Given the description of an element on the screen output the (x, y) to click on. 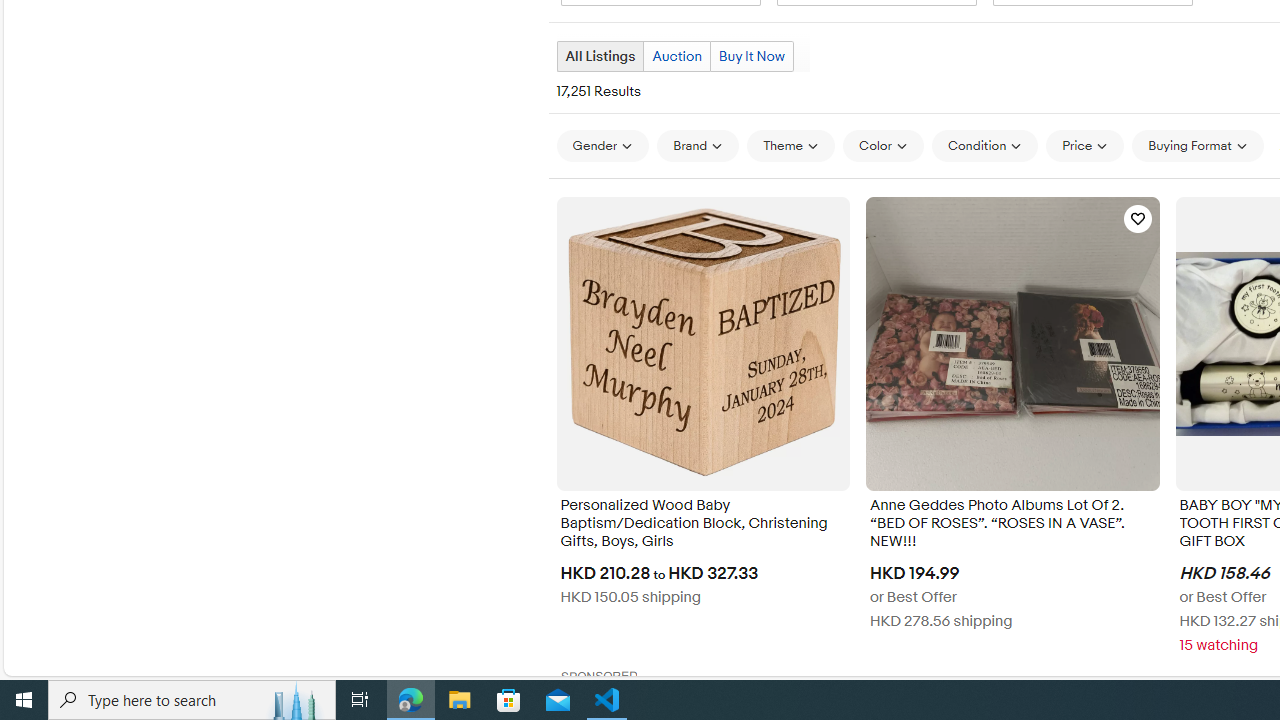
Gender (602, 145)
Auction (676, 56)
Brand (697, 146)
Brand (697, 145)
Gender (602, 146)
Auction (676, 56)
Buying Format (1197, 146)
Theme (791, 145)
Color (883, 146)
Color (883, 145)
